Given the description of an element on the screen output the (x, y) to click on. 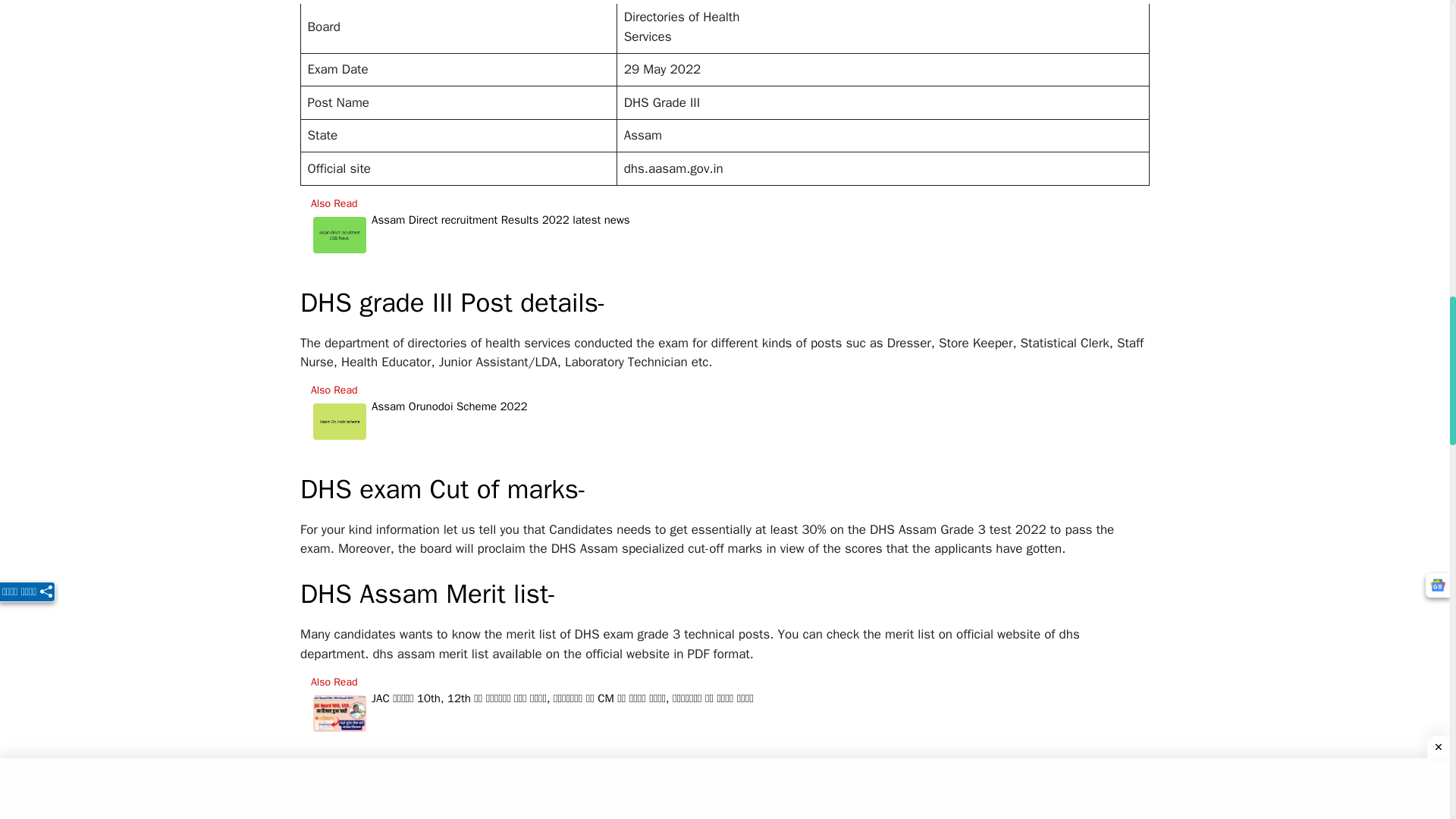
Assam Direct recruitment Results 2022 latest news (500, 235)
Assam Orunodoi Scheme 2022 (449, 421)
